Given the description of an element on the screen output the (x, y) to click on. 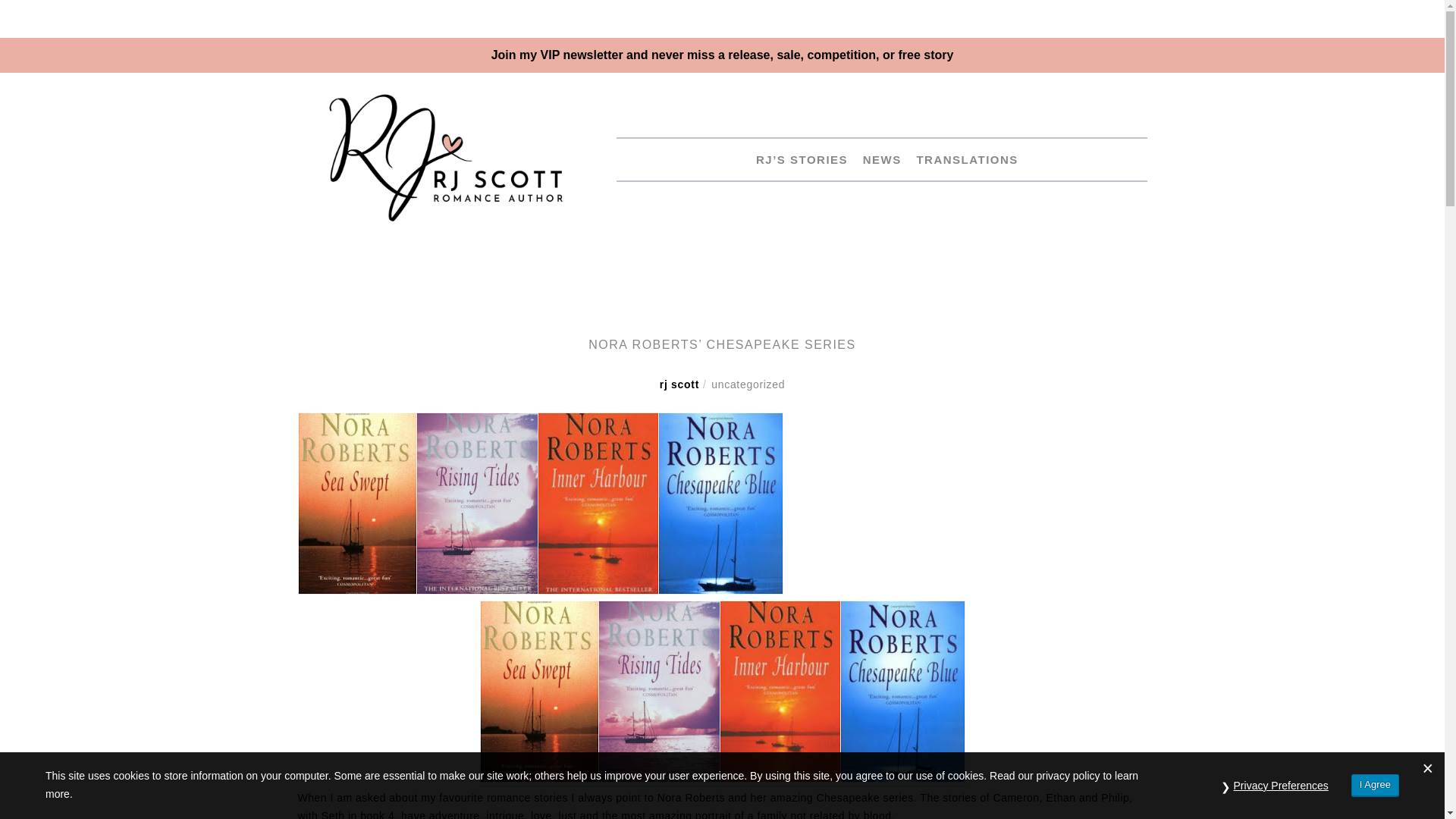
Privacy Preferences (1280, 785)
NEWS (876, 159)
I Agree (1375, 784)
uncategorized (747, 384)
TRANSLATIONS (960, 159)
